Given the description of an element on the screen output the (x, y) to click on. 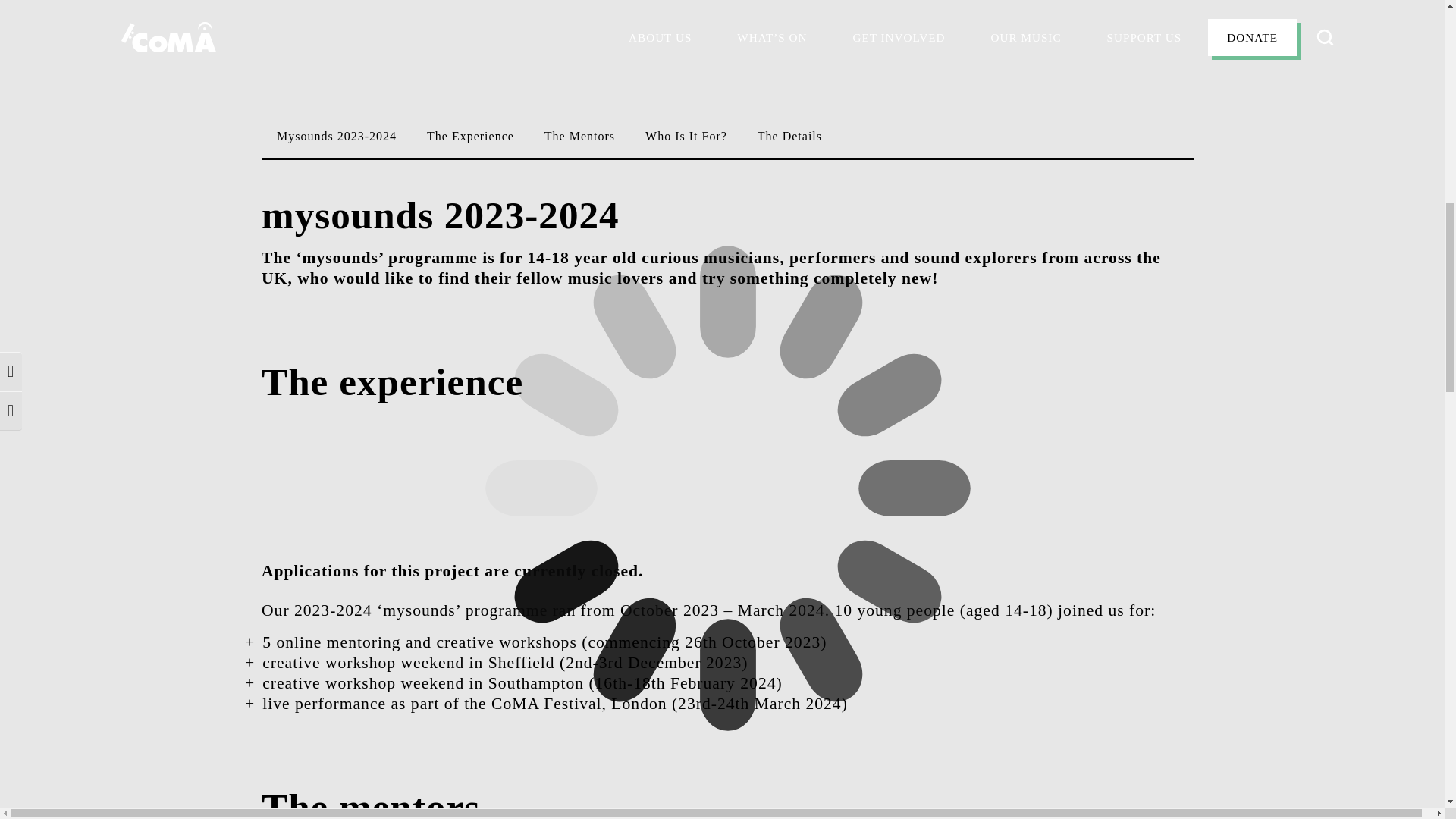
Who Is It For? (686, 135)
mysounds 2023-2024 (441, 176)
The experience (392, 343)
The Details (789, 135)
The Experience (470, 135)
Mysounds 2023-2024 (337, 135)
The Mentors (579, 135)
